Given the description of an element on the screen output the (x, y) to click on. 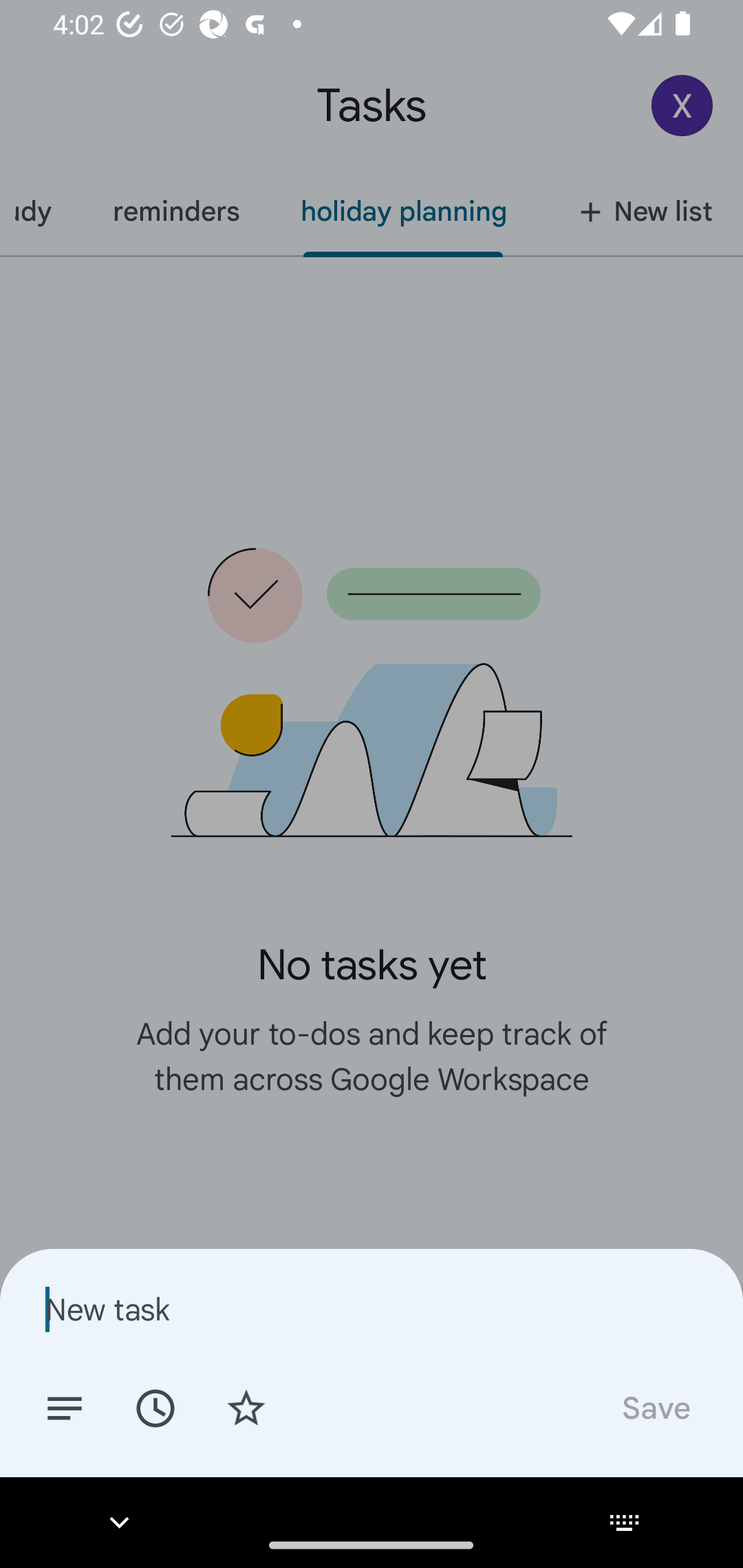
New task (371, 1308)
Save (655, 1407)
Add details (64, 1407)
Set date/time (154, 1407)
Add star (245, 1407)
